Given the description of an element on the screen output the (x, y) to click on. 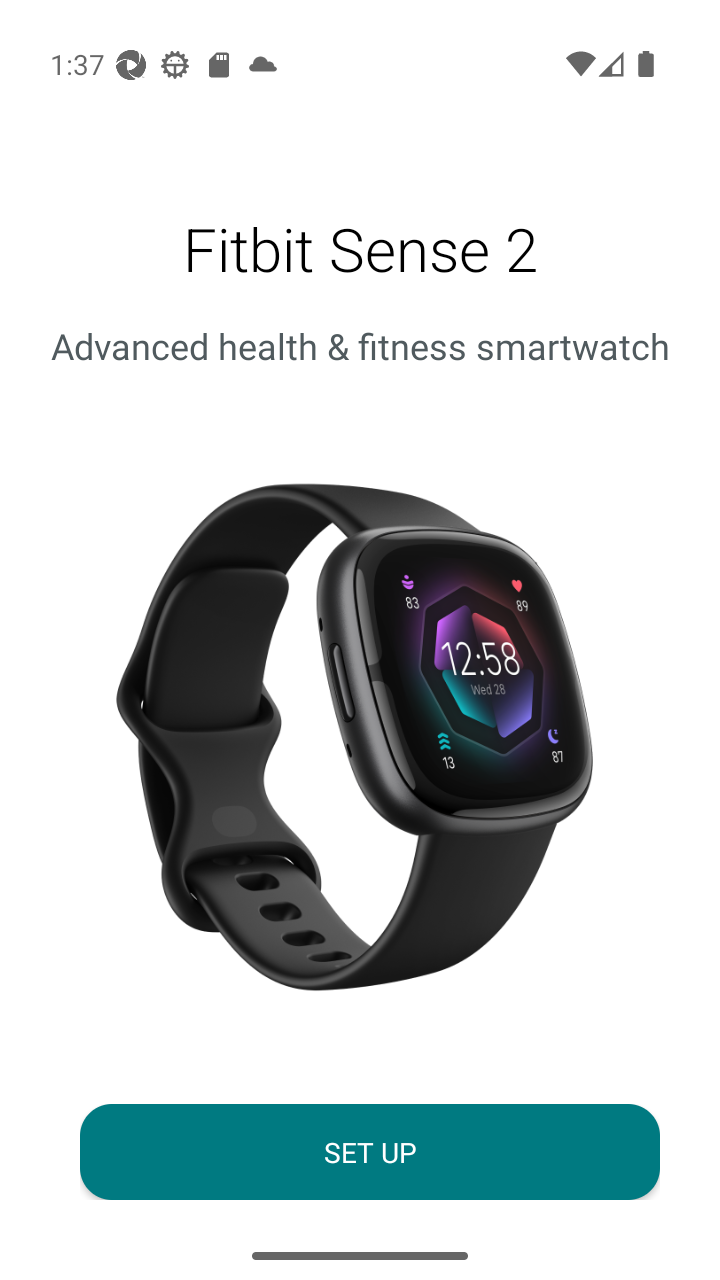
SET UP (369, 1151)
